Given the description of an element on the screen output the (x, y) to click on. 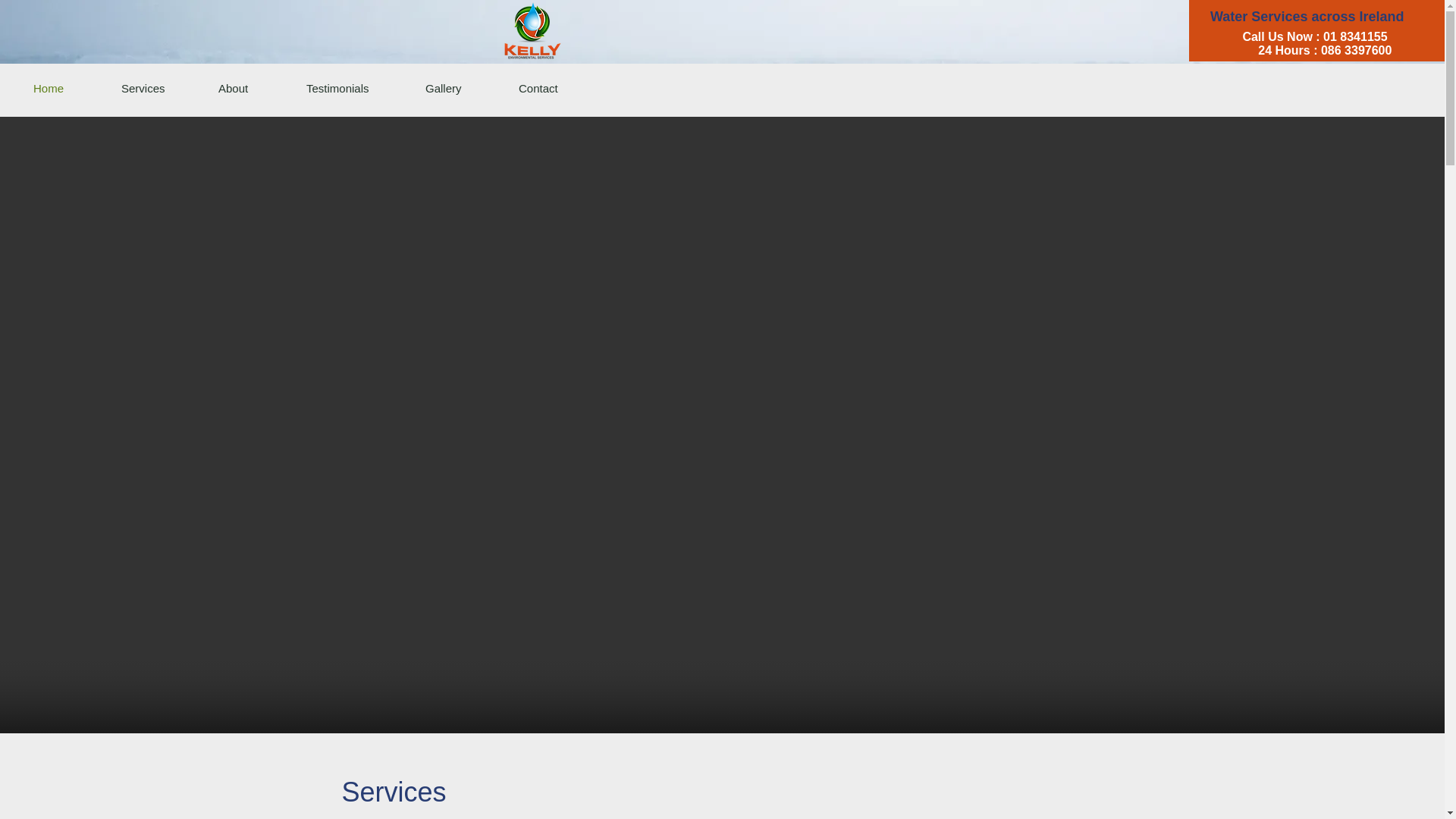
Gallery (459, 88)
Services (158, 88)
Testimonials (354, 88)
Contact (555, 88)
About (250, 88)
Home (65, 88)
